Given the description of an element on the screen output the (x, y) to click on. 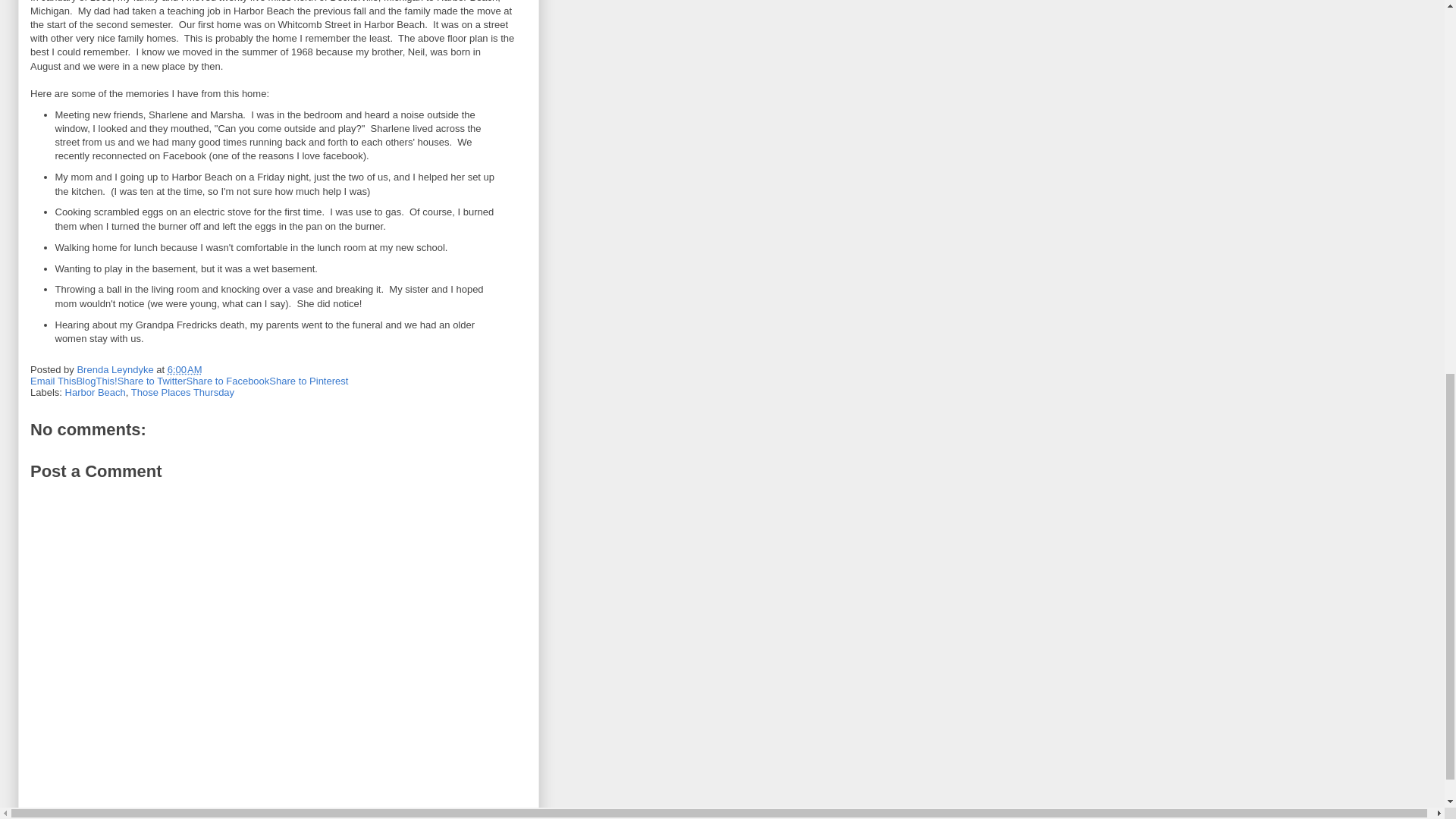
permanent link (184, 369)
Brenda Leyndyke (116, 369)
BlogThis! (95, 380)
Share to Twitter (151, 380)
Those Places Thursday (182, 392)
Email Post (211, 369)
author profile (116, 369)
Email This (52, 380)
Share to Facebook (227, 380)
Harbor Beach (95, 392)
